Given the description of an element on the screen output the (x, y) to click on. 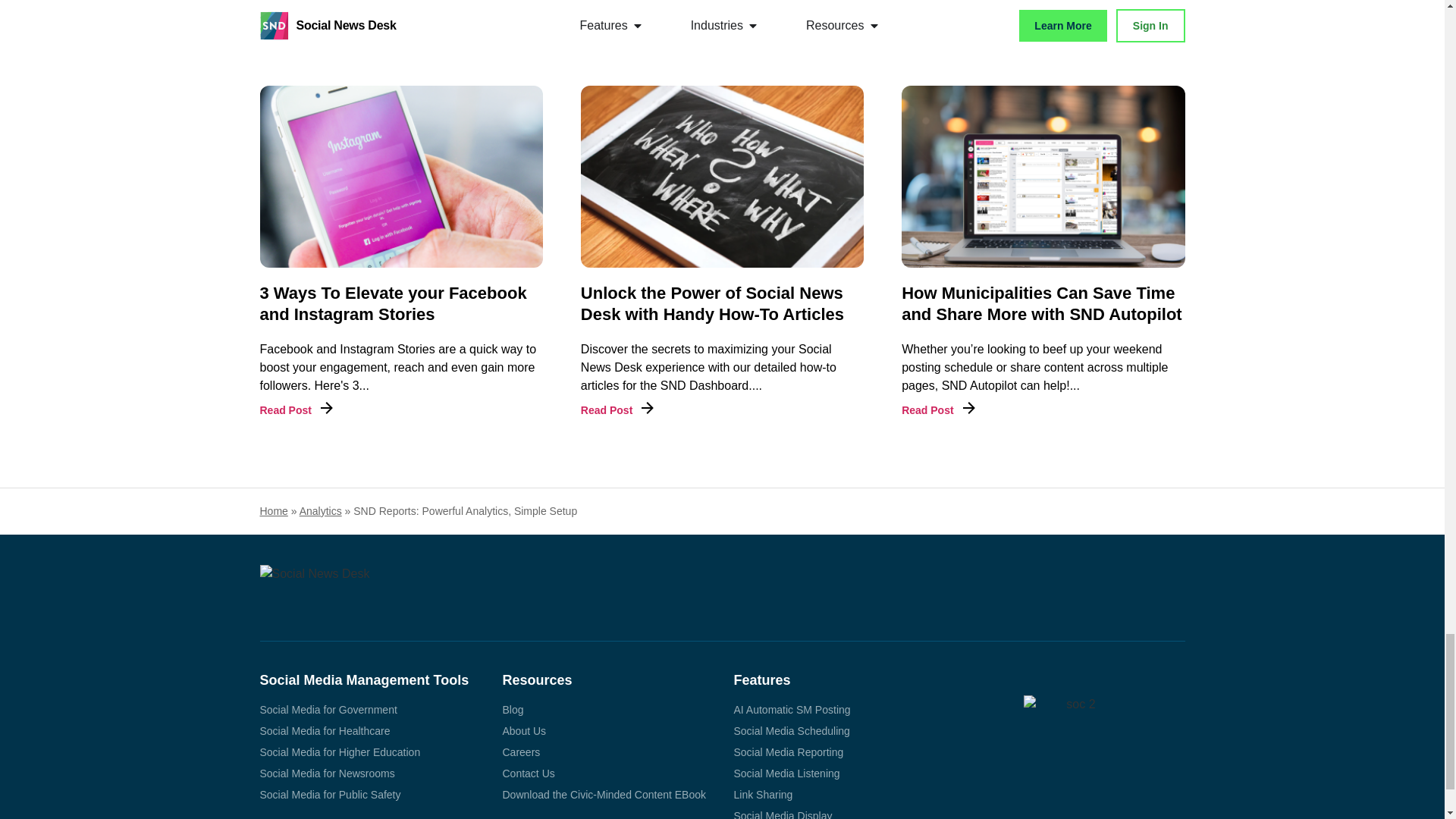
Screenshot 2024-06-28 at 1.32.26 PM (721, 176)
snd autopilot blog banner (1043, 176)
Home (272, 510)
Analytics (320, 510)
